Given the description of an element on the screen output the (x, y) to click on. 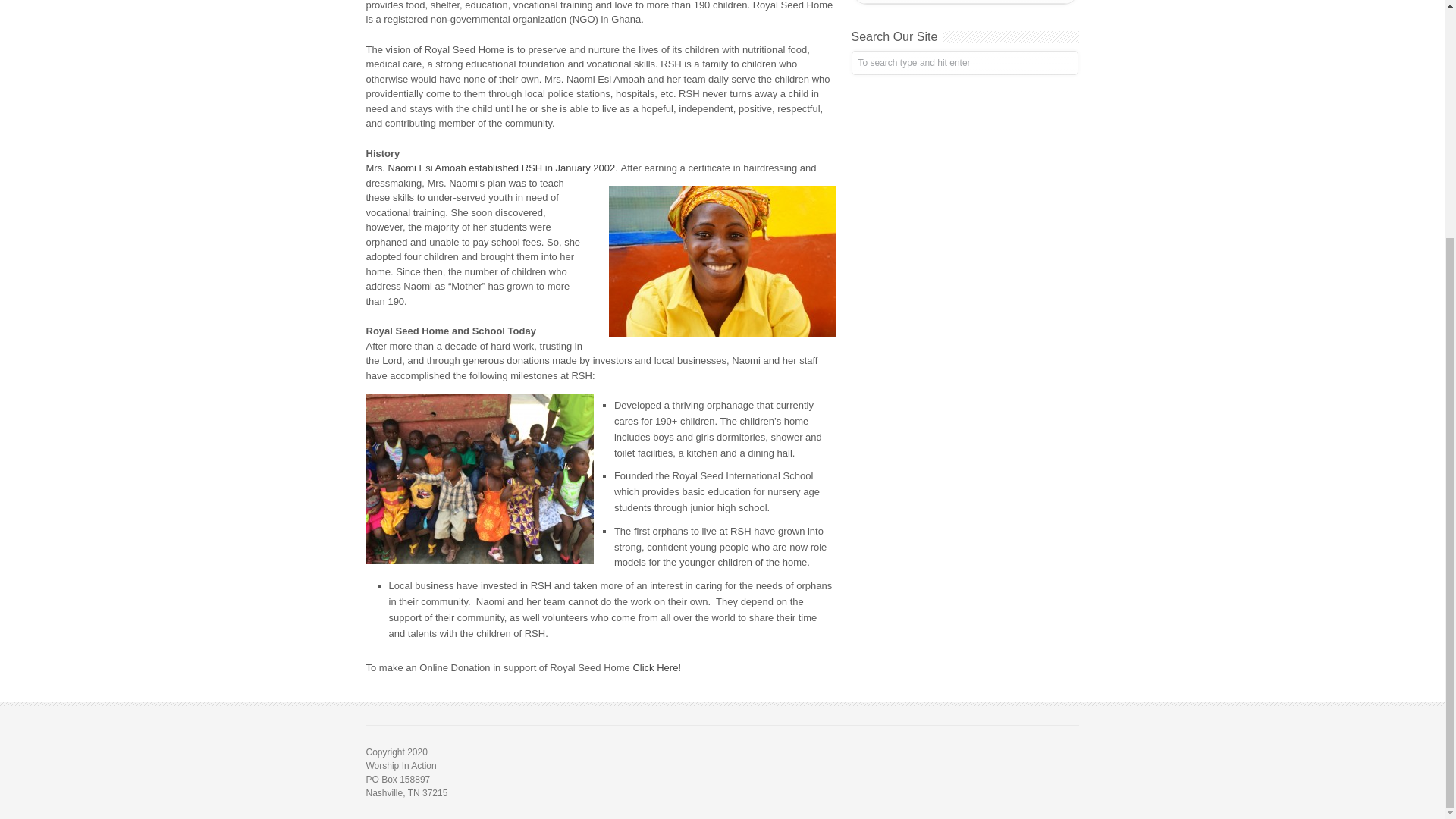
To search type and hit enter (963, 62)
Mrs. Naomi Esi Amoah established RSH in January 2002. (492, 167)
Click Here (654, 667)
To search type and hit enter (963, 62)
